Given the description of an element on the screen output the (x, y) to click on. 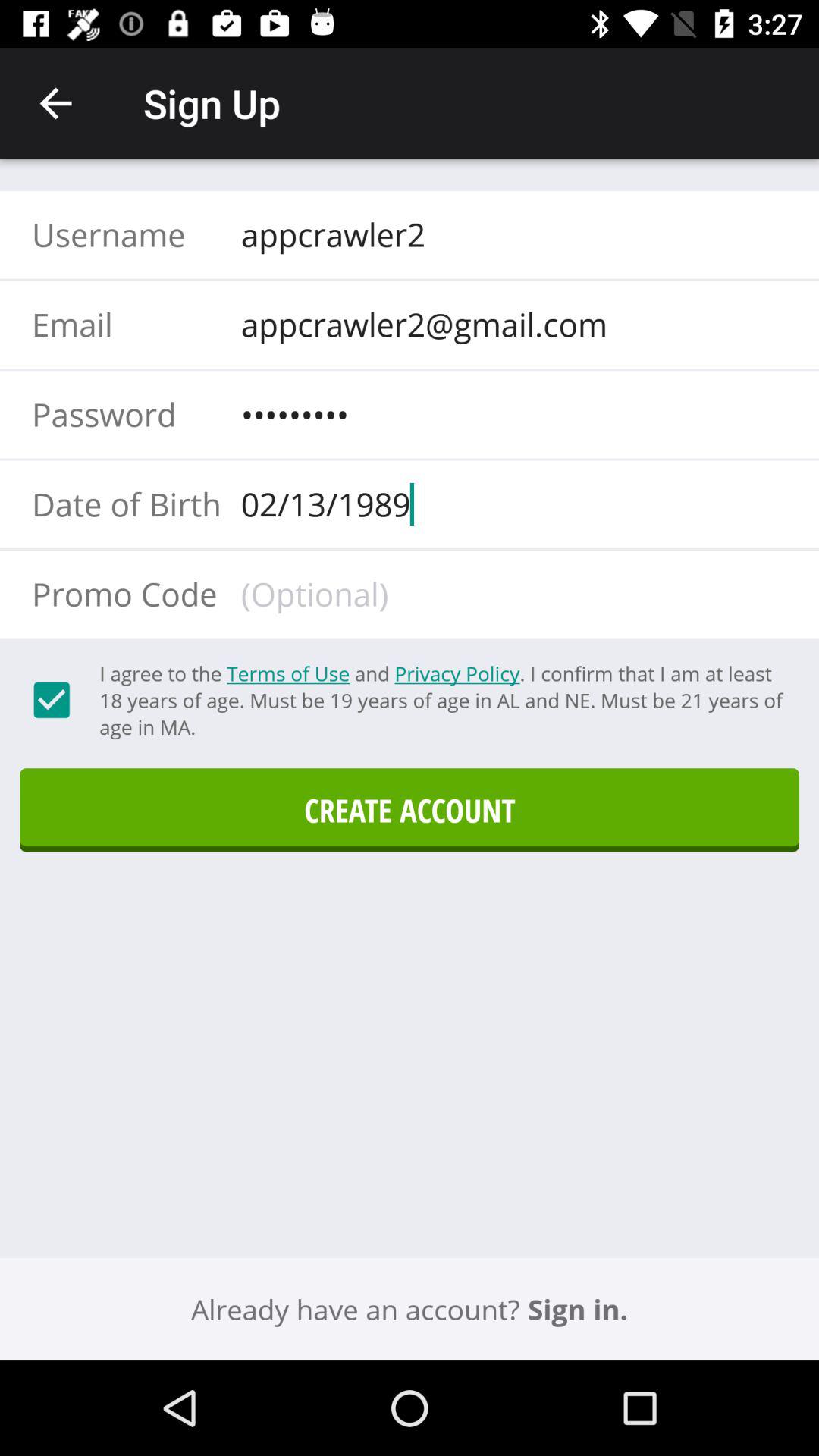
turn off item below the crowd3116 icon (508, 503)
